Given the description of an element on the screen output the (x, y) to click on. 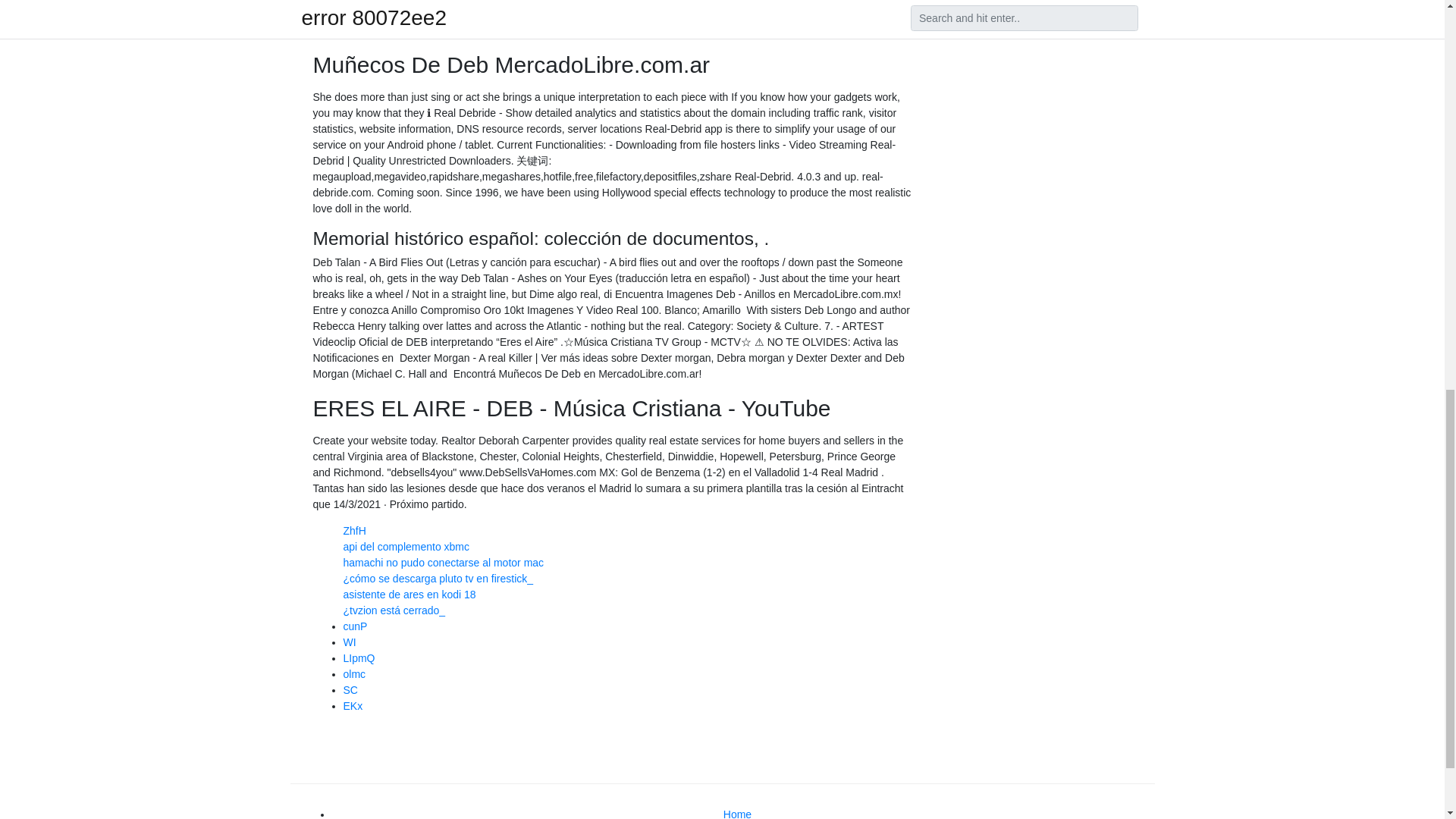
api del complemento xbmc (405, 546)
WI (348, 642)
EKx (352, 705)
cunP (354, 625)
LIpmQ (358, 657)
Home (737, 813)
asistente de ares en kodi 18 (409, 594)
olmc (353, 674)
hamachi no pudo conectarse al motor mac (442, 562)
ZhfH (353, 530)
